Given the description of an element on the screen output the (x, y) to click on. 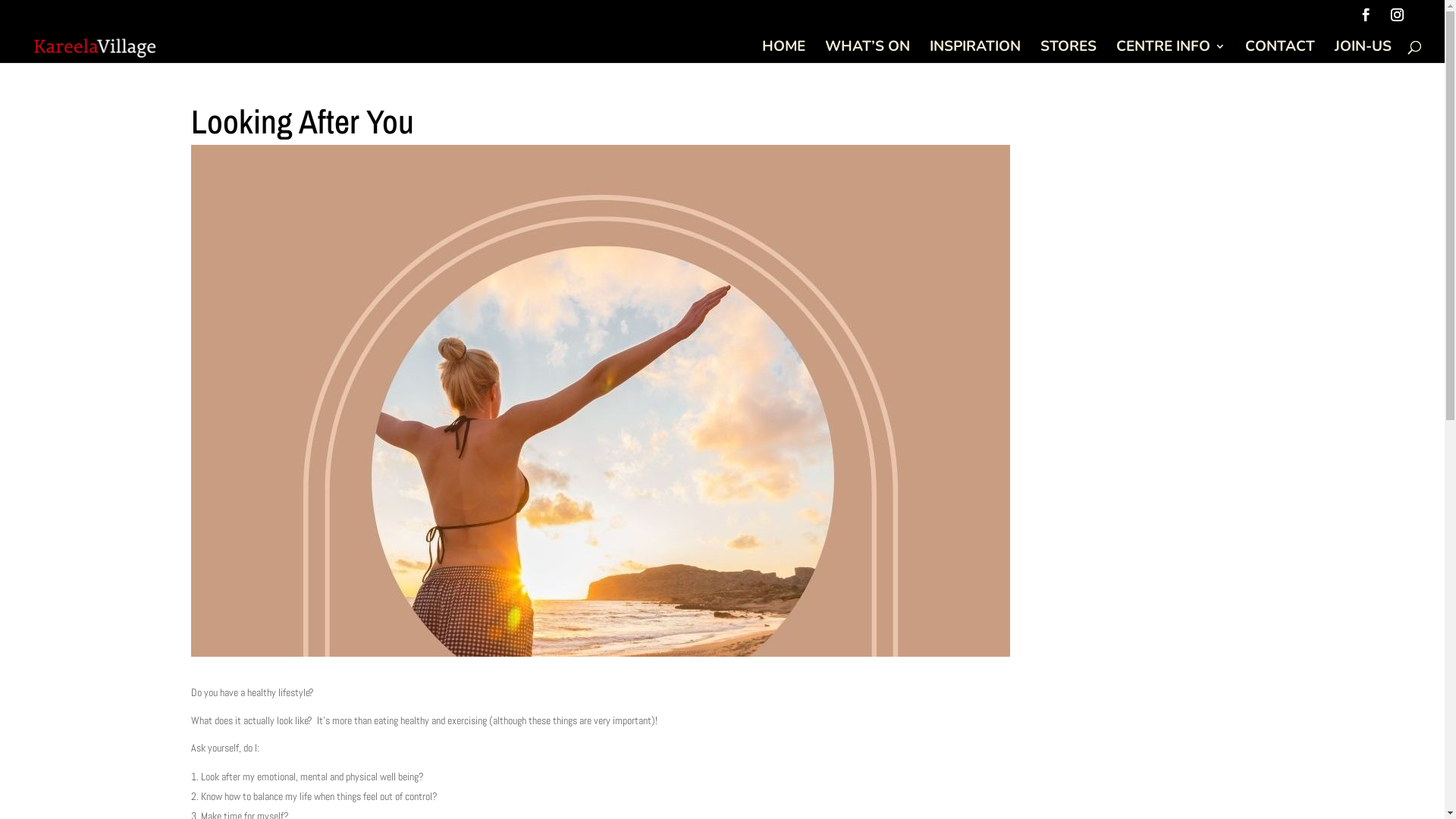
CONTACT Element type: text (1279, 51)
HOME Element type: text (783, 51)
STORES Element type: text (1068, 51)
JOIN-US Element type: text (1362, 51)
CENTRE INFO Element type: text (1170, 51)
INSPIRATION Element type: text (974, 51)
